Given the description of an element on the screen output the (x, y) to click on. 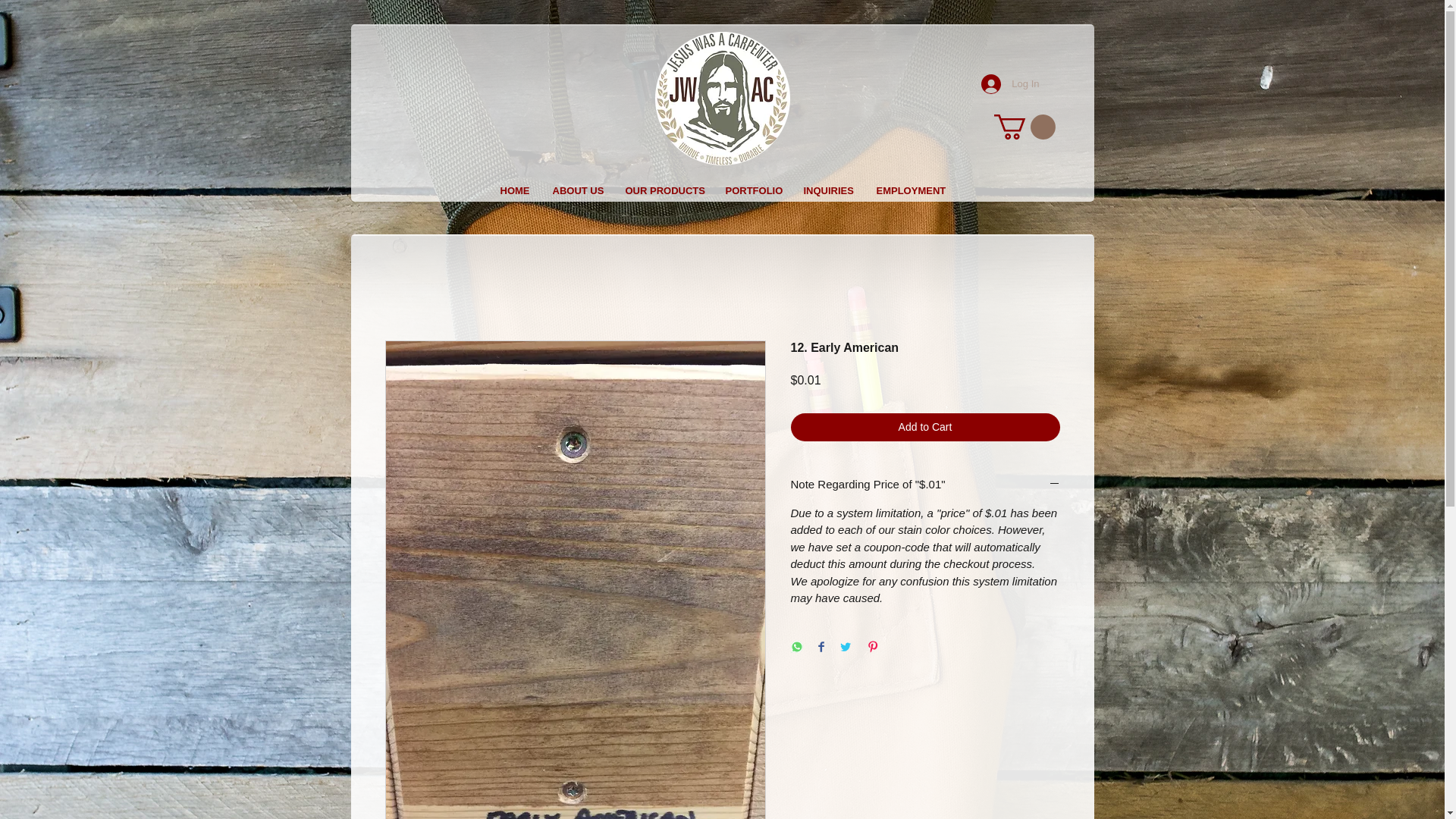
HOME (513, 190)
INQUIRIES (828, 190)
Log In (1010, 83)
PORTFOLIO (753, 190)
ABOUT US (577, 190)
OUR PRODUCTS (664, 190)
Add to Cart (924, 427)
EMPLOYMENT (909, 190)
